Given the description of an element on the screen output the (x, y) to click on. 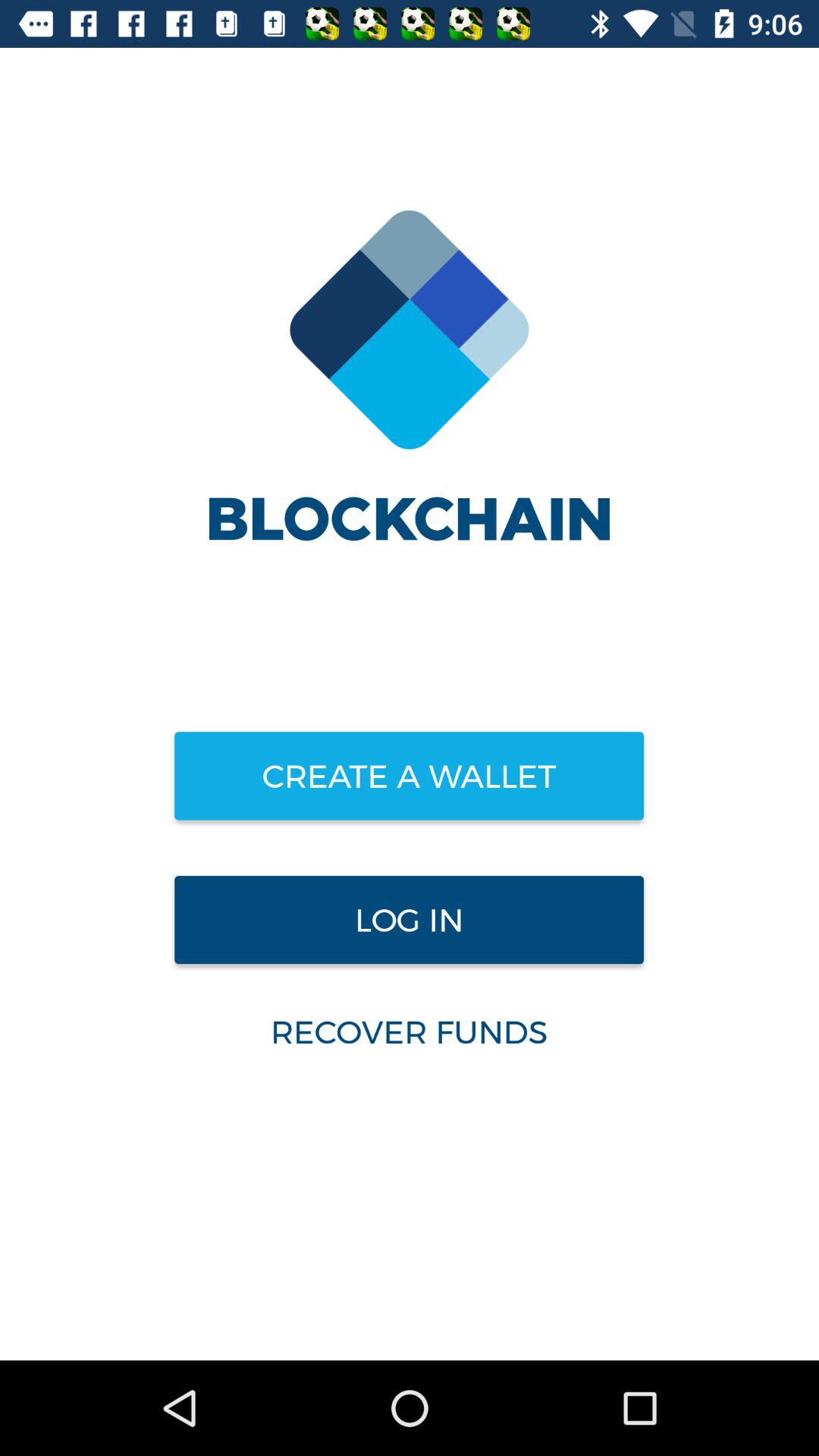
click the item below create a wallet item (408, 919)
